Given the description of an element on the screen output the (x, y) to click on. 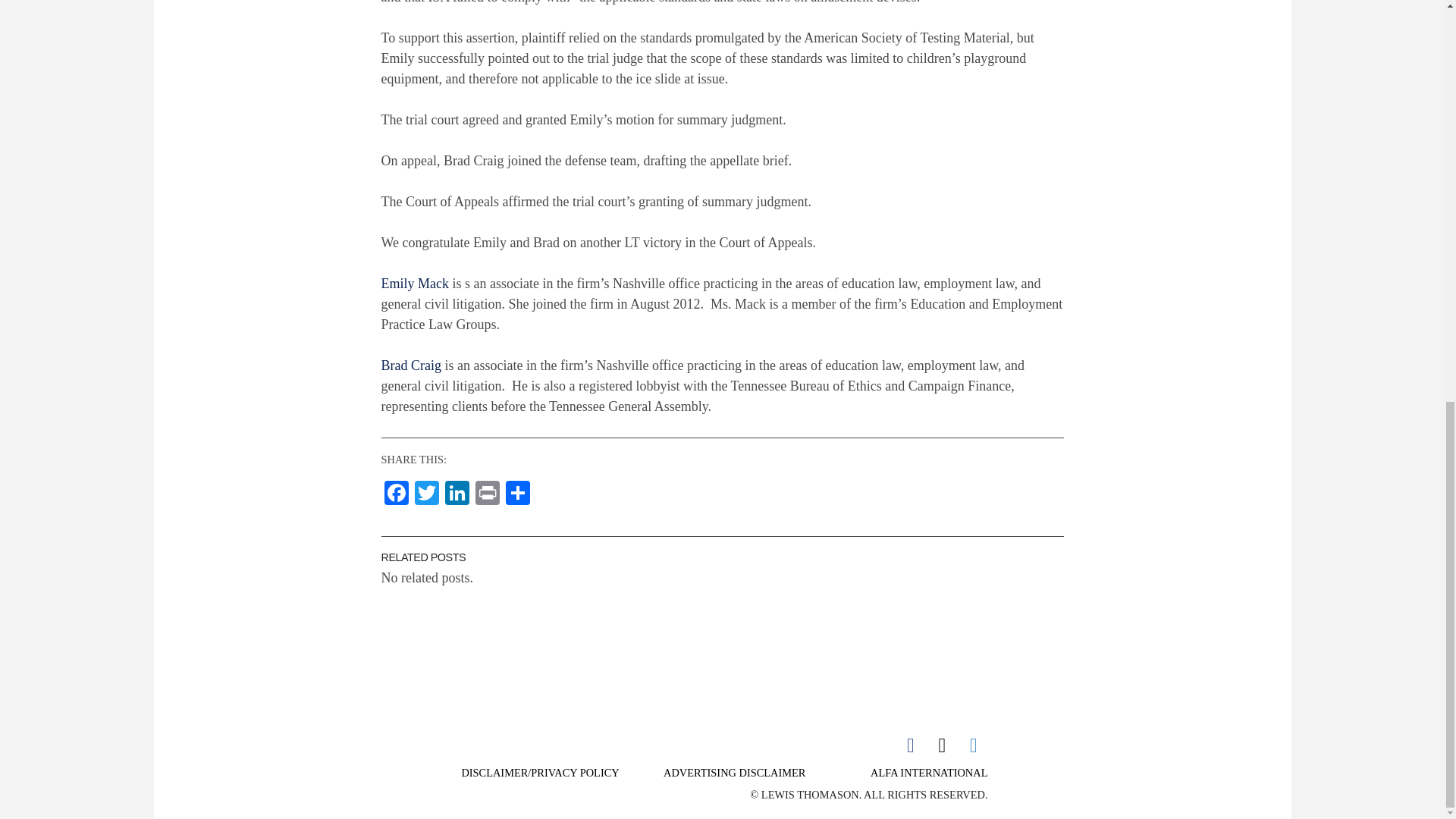
Print (486, 494)
ADVERTISING DISCLAIMER (734, 772)
Brad Craig (410, 365)
LinkedIn (456, 494)
Emily Mack (414, 283)
Print (486, 494)
LinkedIn (456, 494)
Facebook (395, 494)
Twitter (425, 494)
Facebook (395, 494)
Twitter (425, 494)
Share (517, 494)
ALFA INTERNATIONAL (928, 772)
